Given the description of an element on the screen output the (x, y) to click on. 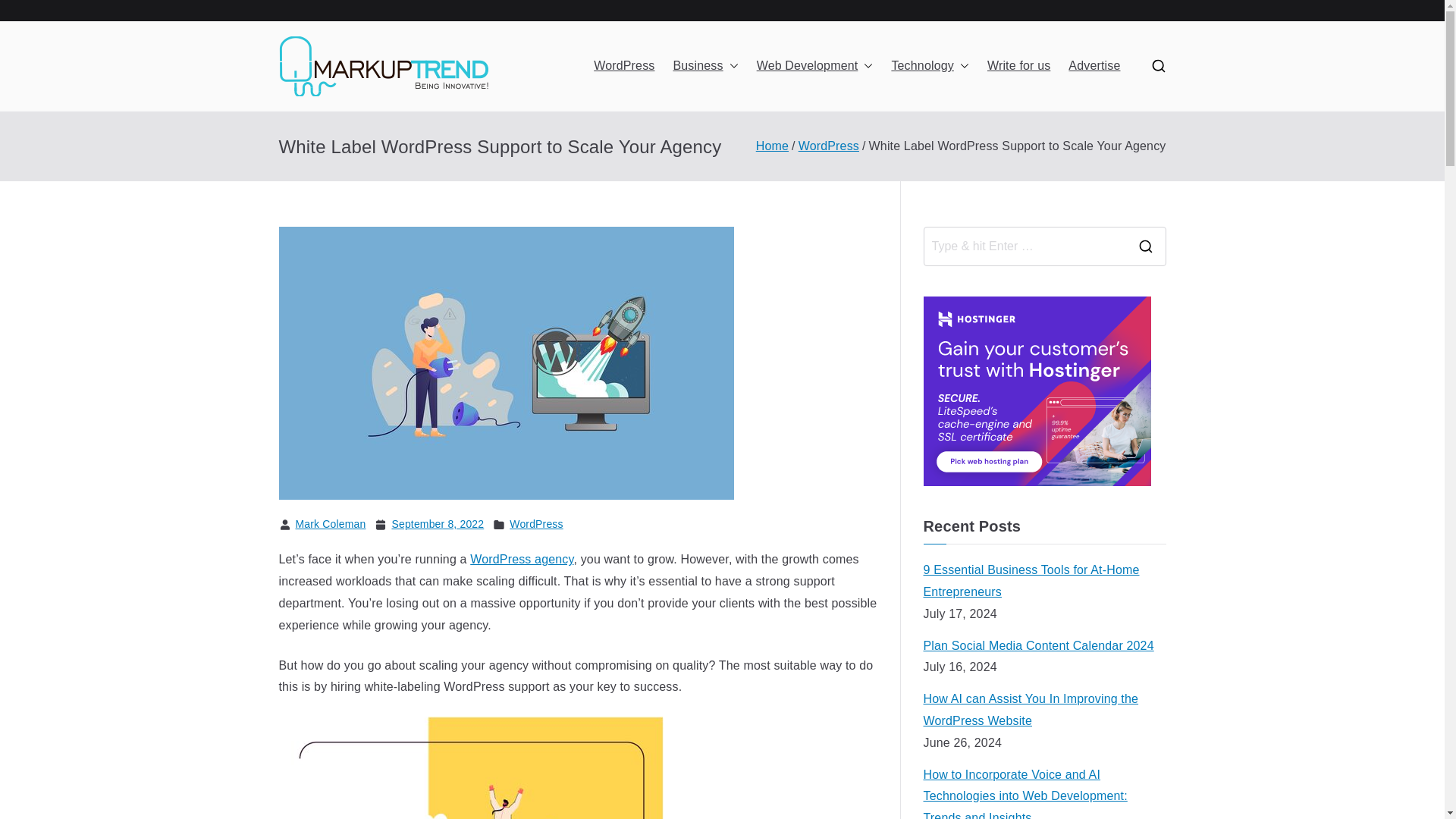
Mark Coleman (330, 523)
WordPress (828, 145)
Business (705, 65)
Home (772, 145)
Web Development (815, 65)
WordPress agency (521, 558)
MarkupTrend (599, 86)
WordPress (623, 65)
Write for us (1018, 65)
Search (26, 12)
WordPress (535, 524)
September 8, 2022 (437, 524)
Technology (930, 65)
Advertise (1093, 65)
Search for: (1024, 246)
